Given the description of an element on the screen output the (x, y) to click on. 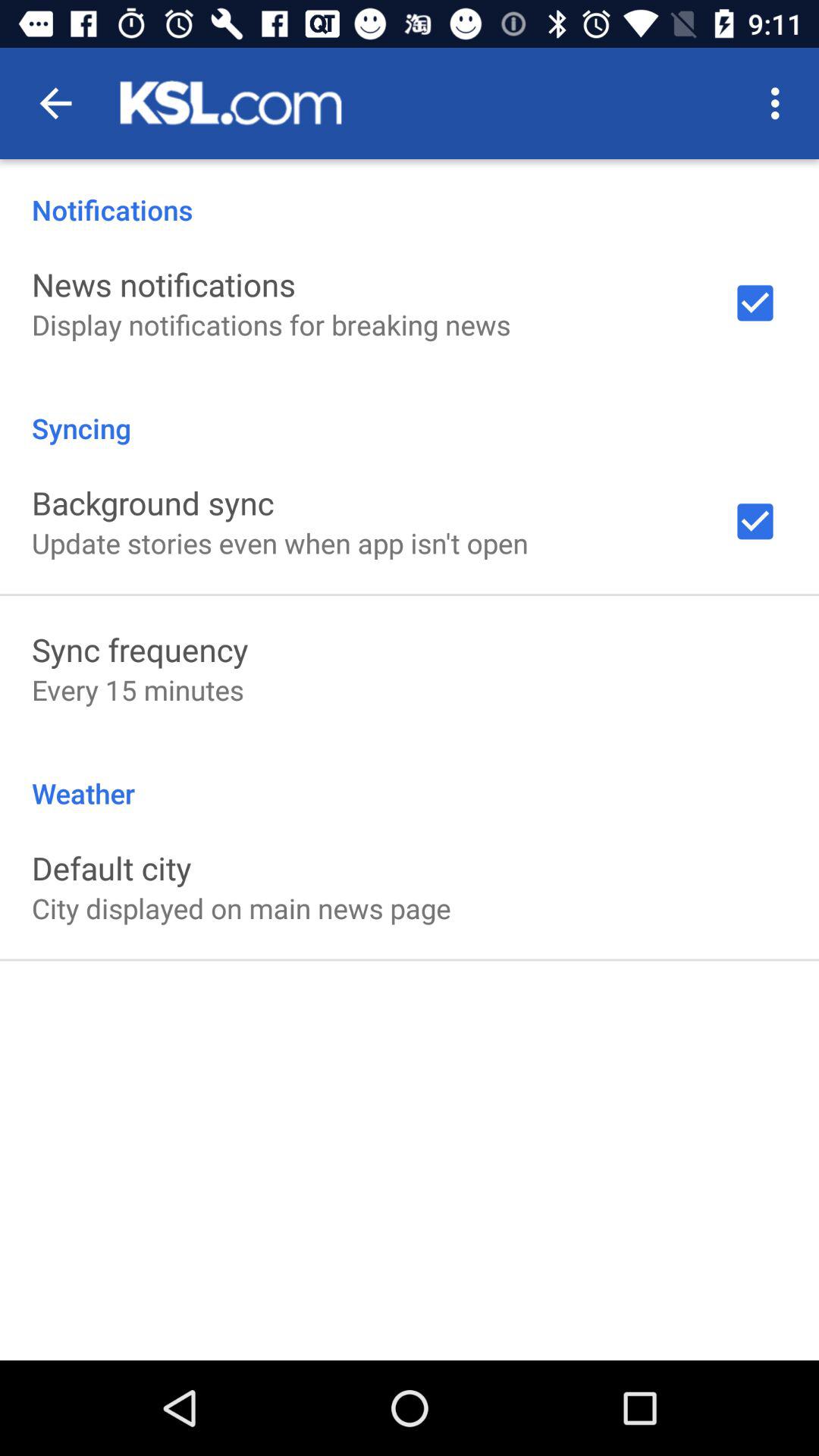
press the app above notifications item (55, 103)
